Given the description of an element on the screen output the (x, y) to click on. 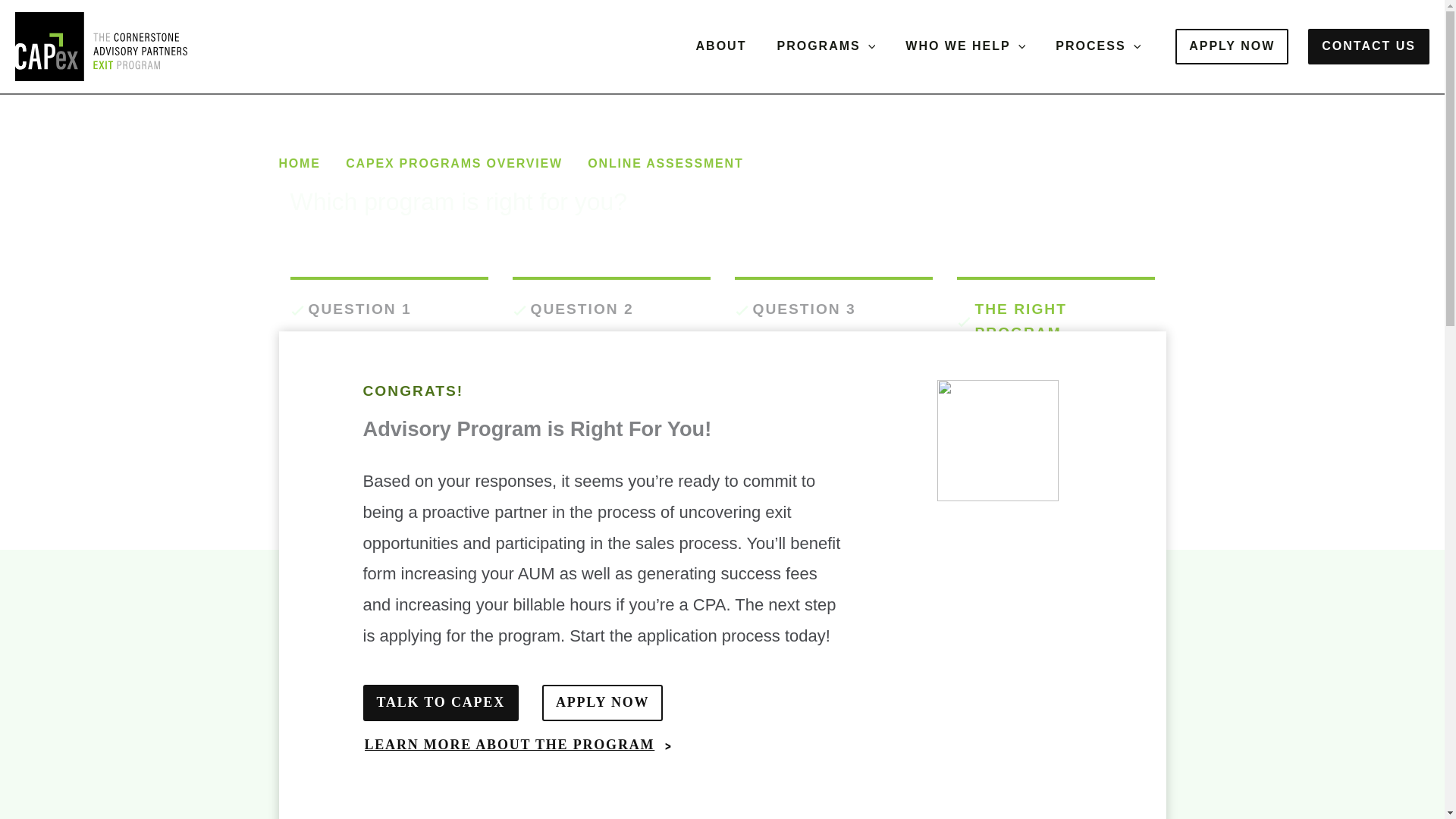
CONTACT US (1368, 46)
ABOUT (721, 46)
PROGRAMS (825, 46)
WHO WE HELP (965, 46)
APPLY NOW (1231, 46)
PROCESS (1098, 46)
